Given the description of an element on the screen output the (x, y) to click on. 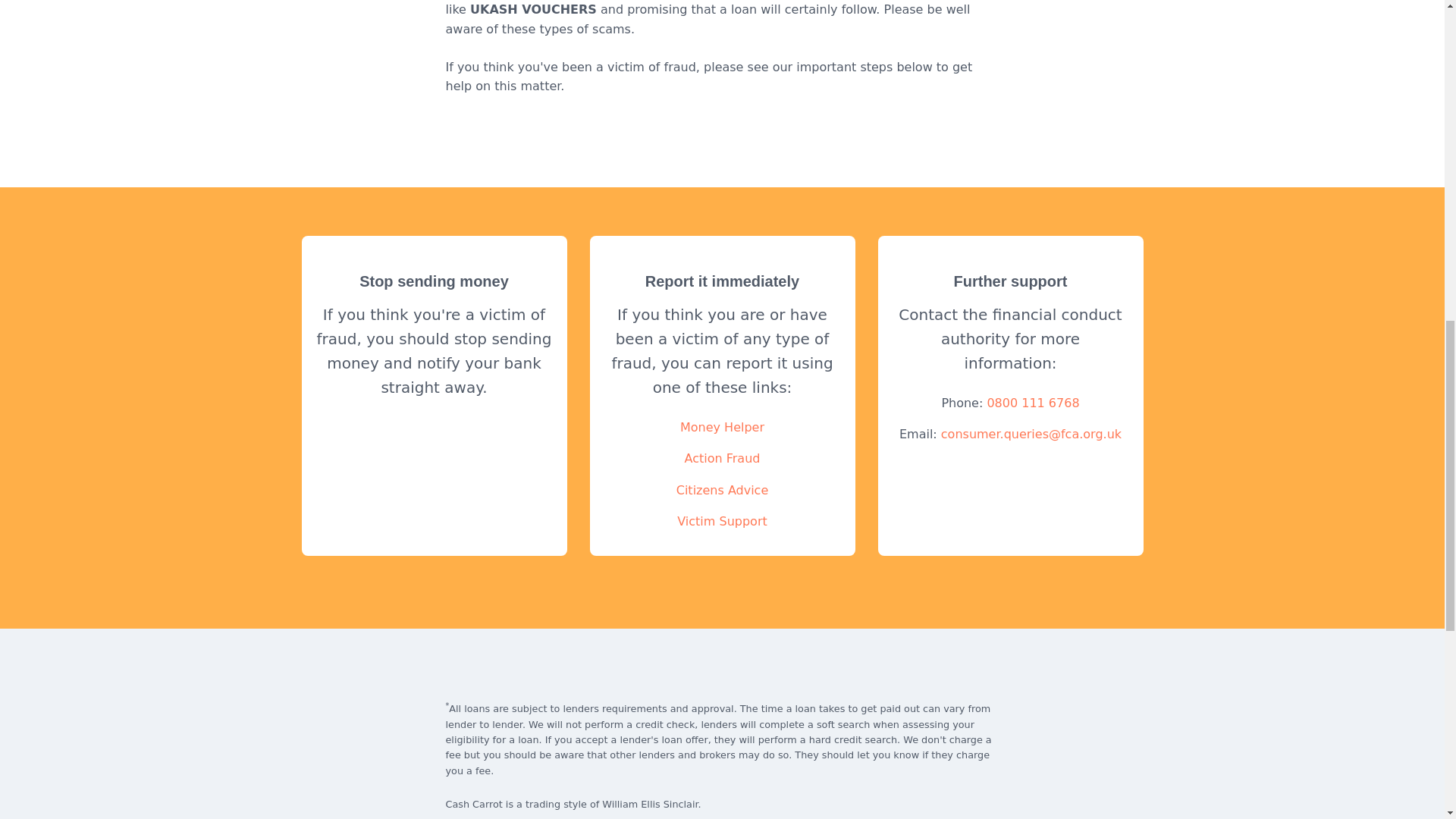
0800 111 6768 (1032, 402)
Money Helper (721, 427)
Citizens Advice (722, 490)
Victim Support (722, 521)
Action Fraud (722, 458)
